Given the description of an element on the screen output the (x, y) to click on. 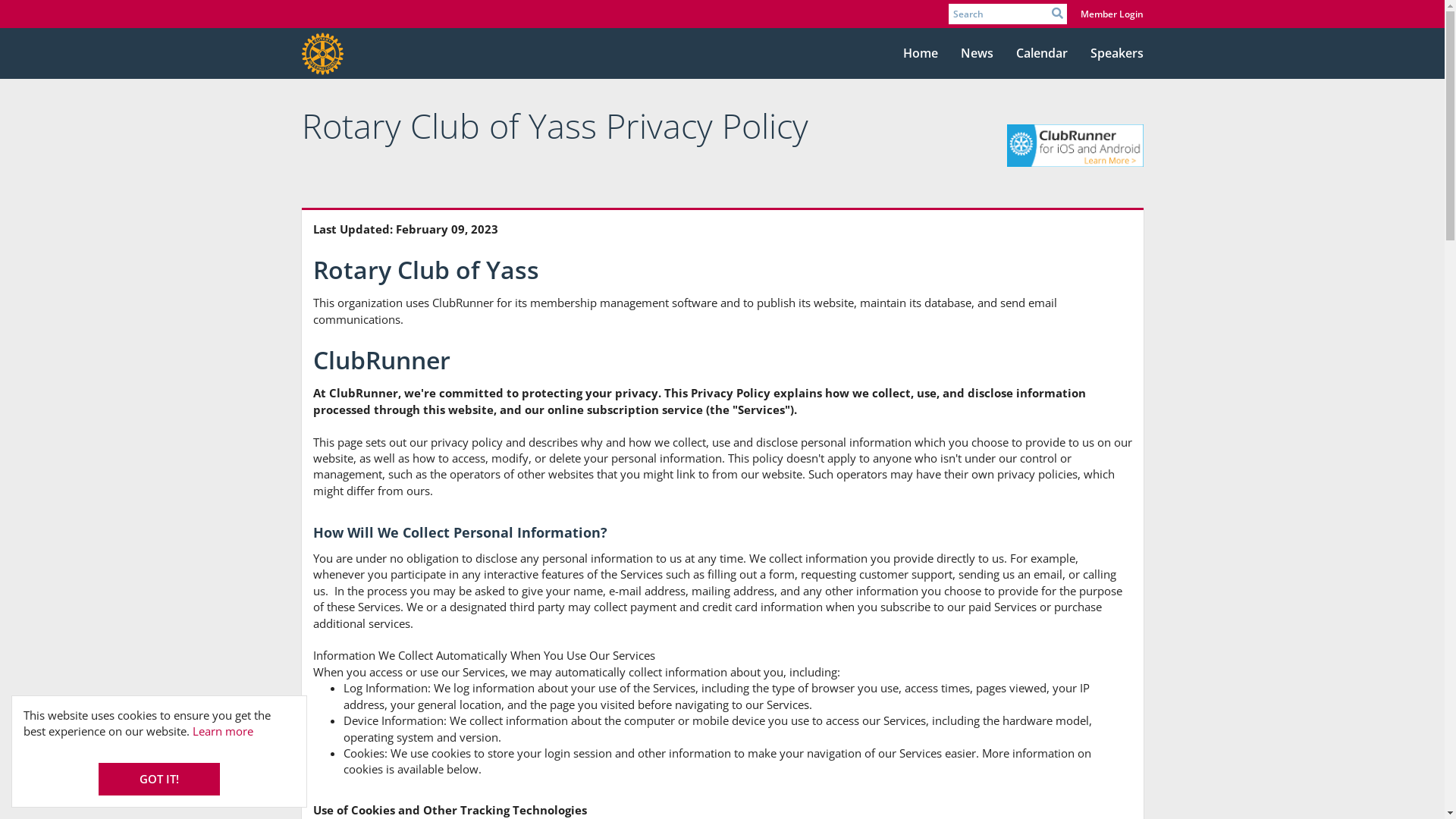
Speakers Element type: text (1116, 53)
Home Element type: text (920, 53)
GOT IT! Element type: text (158, 778)
Learn more Element type: text (222, 730)
Member Login Element type: text (1110, 13)
Calendar Element type: text (1041, 53)
News Element type: text (976, 53)
